Given the description of an element on the screen output the (x, y) to click on. 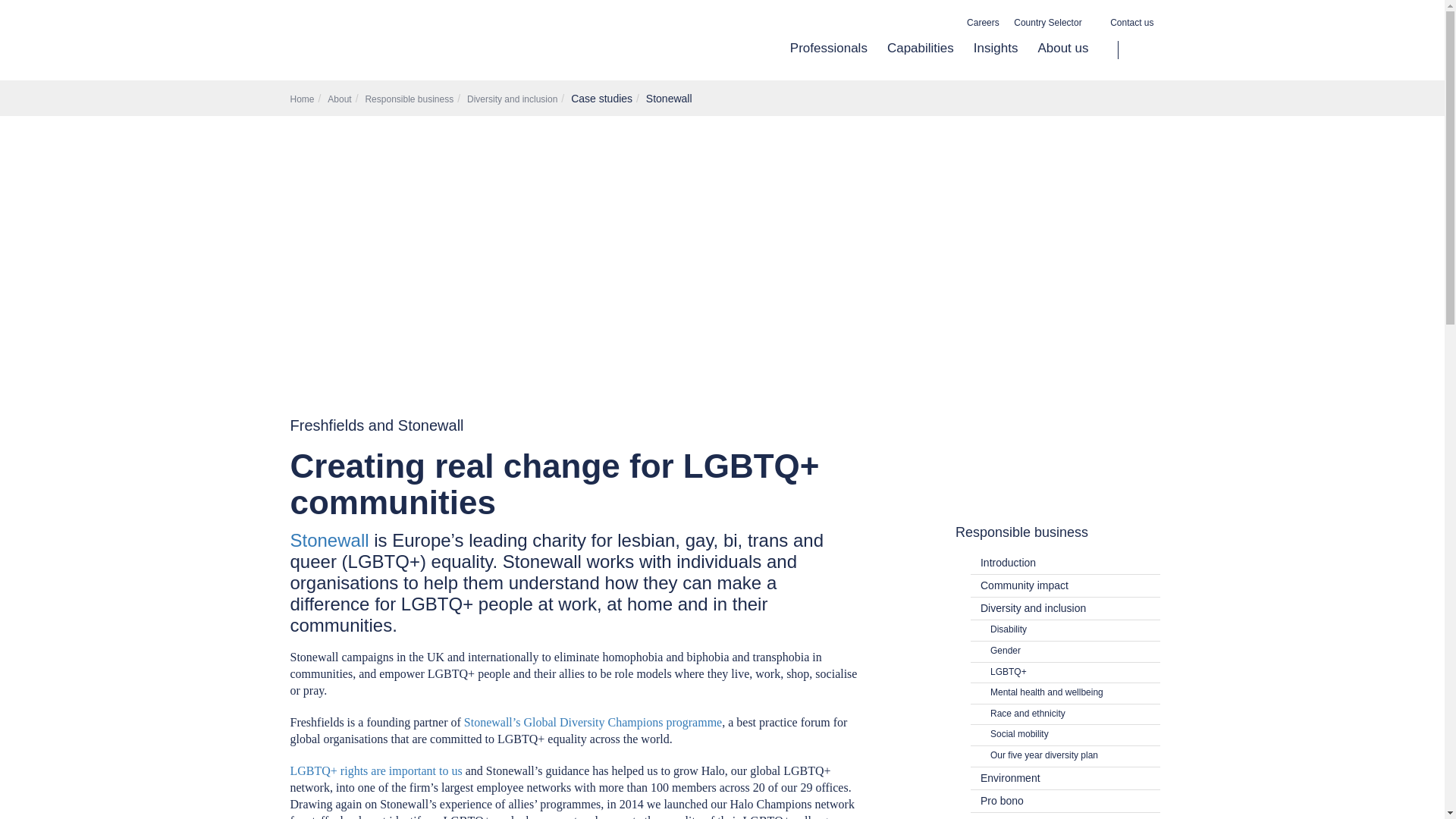
Capabilities (920, 59)
Country Selector (1053, 22)
About us (1057, 59)
Professionals (828, 59)
Freshfields Bruckhaus Deringer (423, 46)
Careers (982, 22)
Contact us (1131, 22)
Search (1136, 49)
Insights (995, 59)
Careers (982, 22)
